Given the description of an element on the screen output the (x, y) to click on. 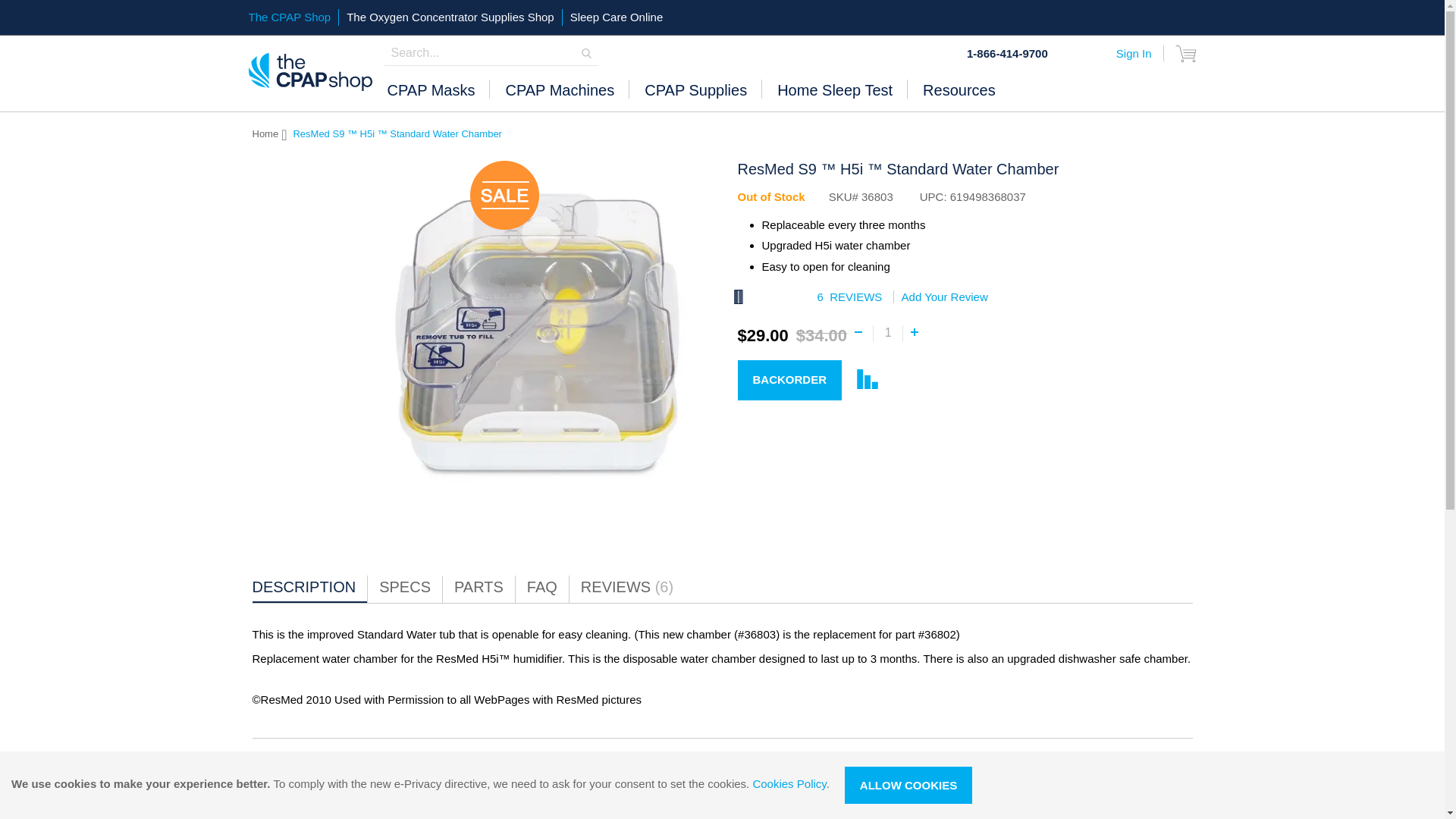
Availability: (770, 195)
Backorder (788, 380)
Sign In (1133, 52)
The CPAP Shop Logo (310, 73)
ALLOW COOKIES (908, 784)
ORDER SUMMARY (1185, 52)
CPAP Machines (558, 96)
The CPAP Shop Logo (310, 71)
CPAP Masks (430, 96)
Go to Home Page (264, 133)
